Given the description of an element on the screen output the (x, y) to click on. 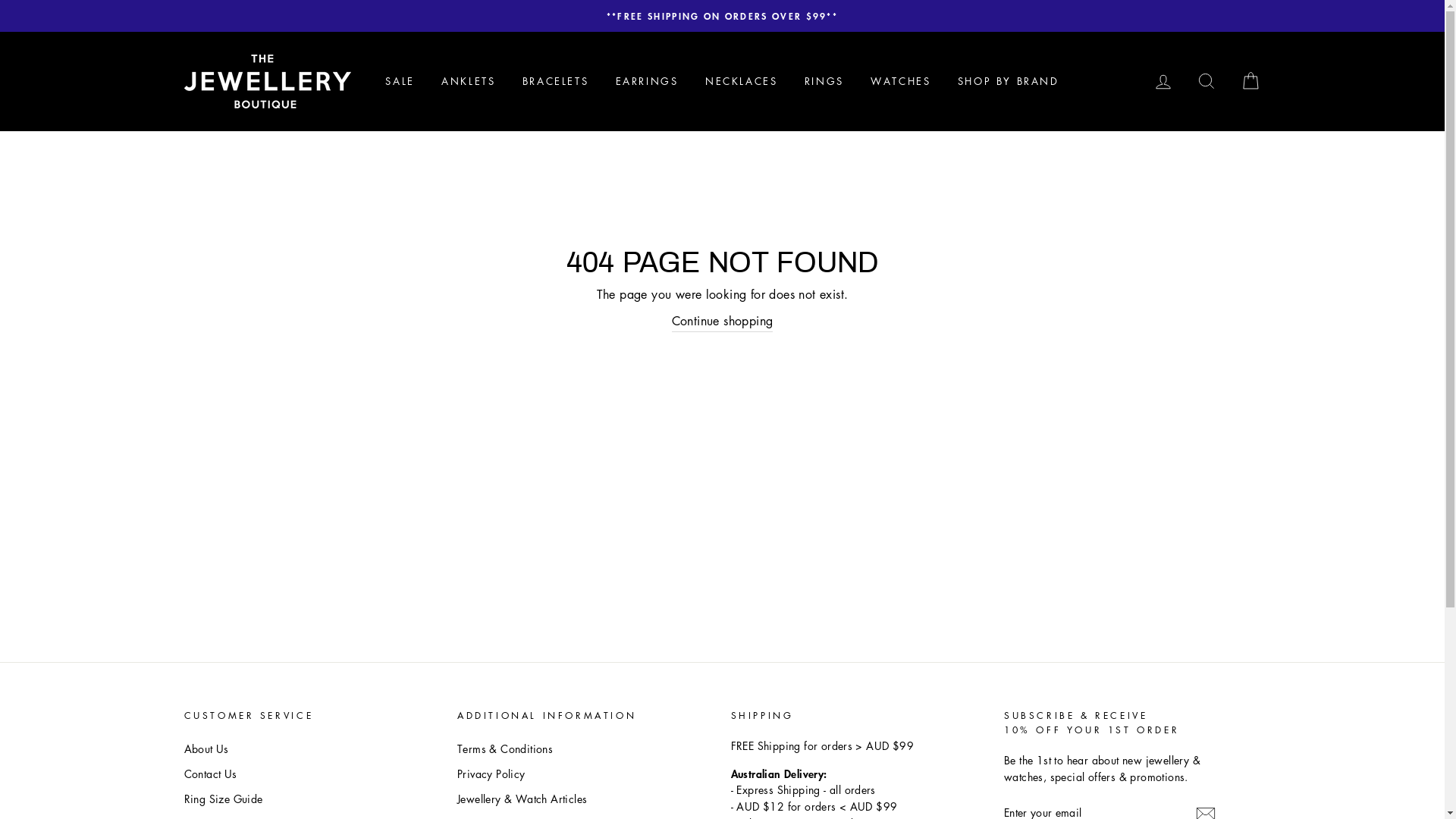
NECKLACES Element type: text (740, 80)
Ring Size Guide Element type: text (222, 798)
Contact Us Element type: text (209, 773)
BRACELETS Element type: text (555, 80)
ANKLETS Element type: text (467, 80)
Jewellery & Watch Articles Element type: text (521, 798)
Continue shopping Element type: text (722, 321)
SEARCH Element type: text (1206, 81)
Privacy Policy Element type: text (491, 773)
SHOP BY BRAND Element type: text (1008, 80)
SALE Element type: text (399, 80)
Skip to content Element type: text (0, 0)
WATCHES Element type: text (900, 80)
RINGS Element type: text (824, 80)
Terms & Conditions Element type: text (504, 748)
CART Element type: text (1249, 81)
LOG IN Element type: text (1163, 81)
About Us Element type: text (205, 748)
BLACK FRIDAY SALE - UP TO 50% OFF* SELECTED ITEMS Element type: text (722, 15)
EARRINGS Element type: text (647, 80)
